Given the description of an element on the screen output the (x, y) to click on. 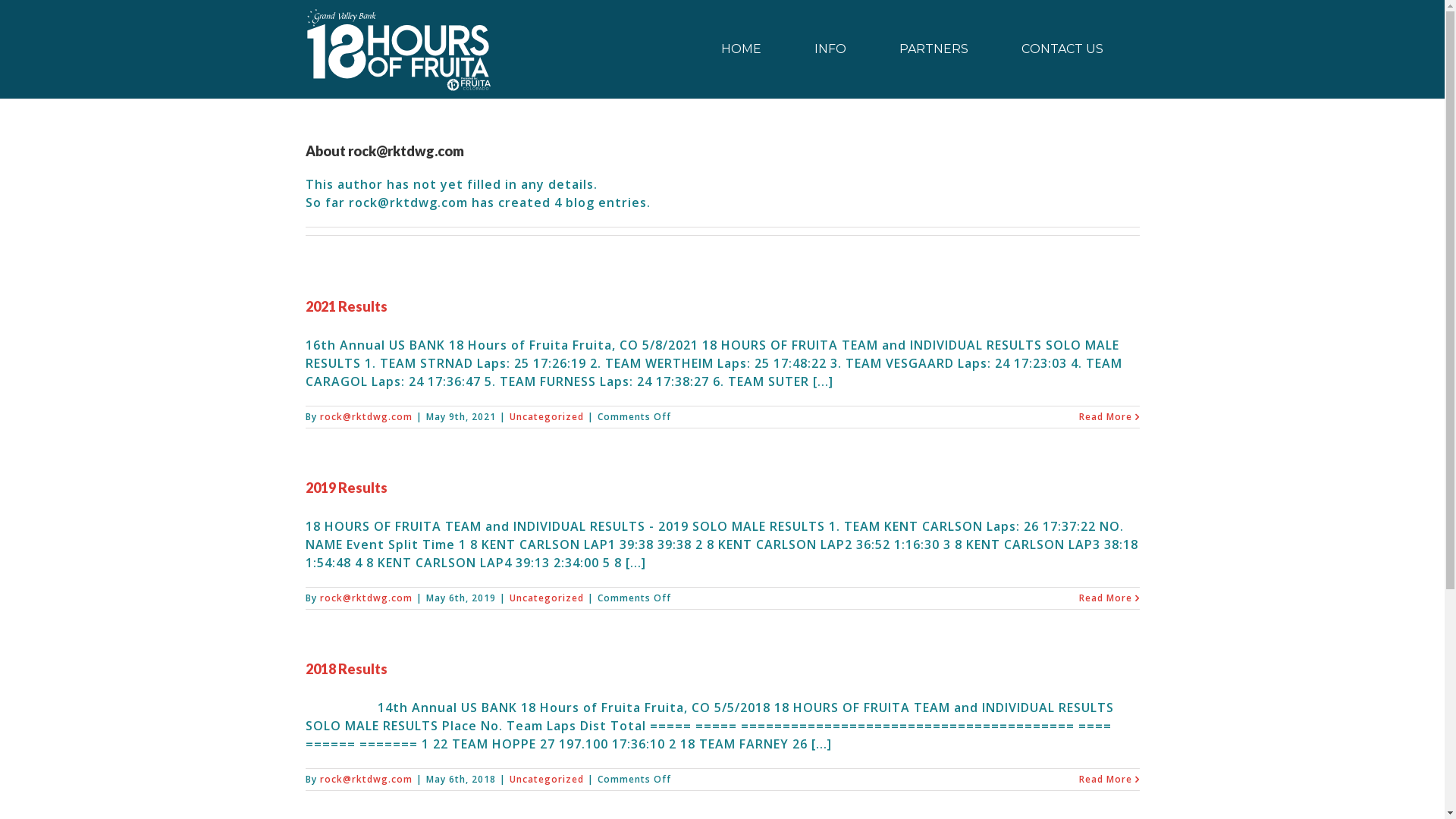
Uncategorized Element type: text (546, 597)
PARTNERS Element type: text (933, 49)
Uncategorized Element type: text (546, 416)
Read More Element type: text (1104, 416)
2018 Results Element type: text (345, 668)
CONTACT US Element type: text (1062, 49)
Read More Element type: text (1104, 779)
2019 Results Element type: text (345, 487)
2021 Results Element type: text (345, 306)
HOME Element type: text (740, 49)
rock@rktdwg.com Element type: text (366, 416)
INFO Element type: text (830, 49)
Uncategorized Element type: text (546, 778)
Read More Element type: text (1104, 598)
rock@rktdwg.com Element type: text (366, 597)
rock@rktdwg.com Element type: text (366, 778)
